Given the description of an element on the screen output the (x, y) to click on. 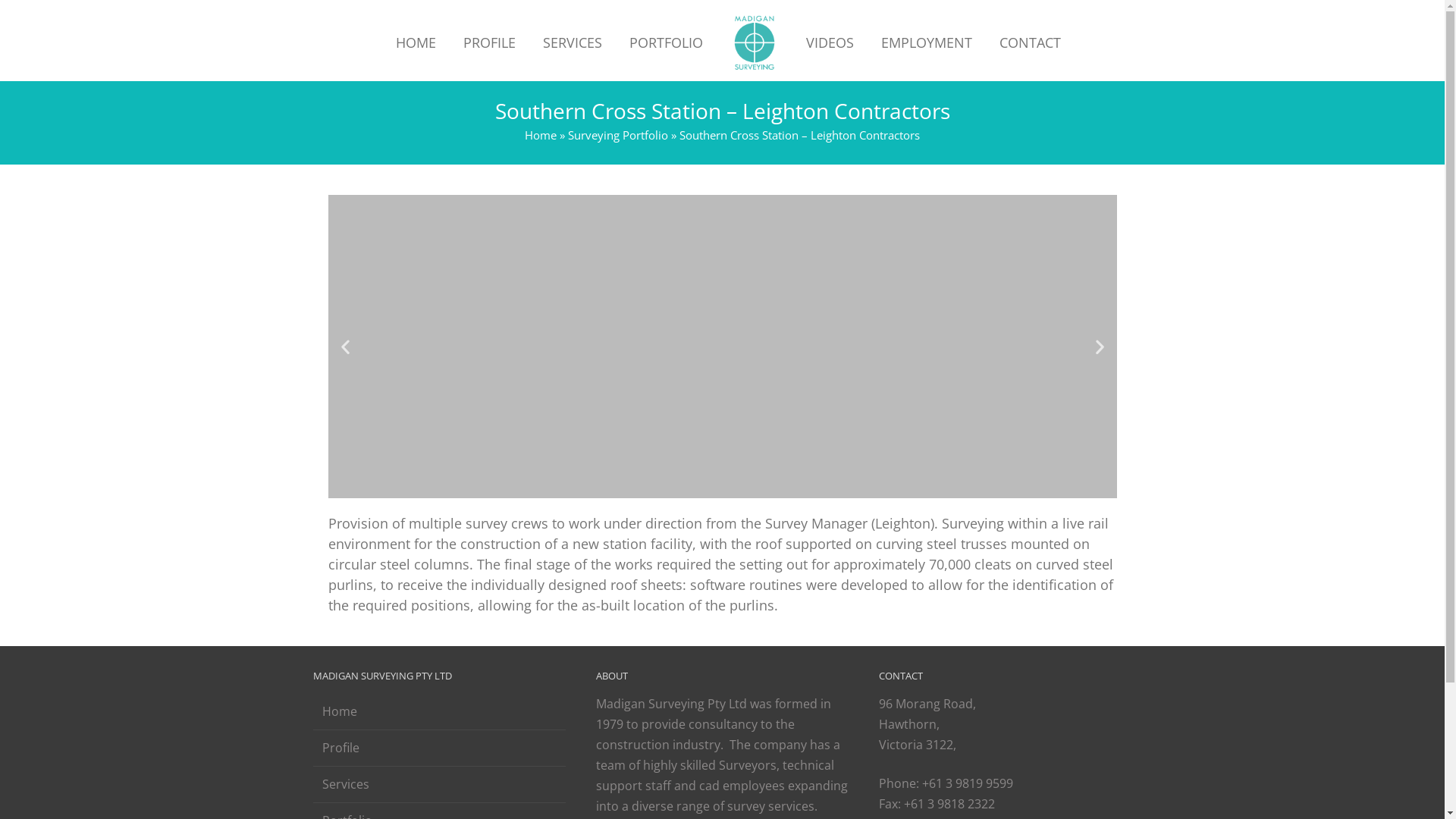
Services Element type: text (438, 783)
PROFILE Element type: text (488, 42)
CONTACT Element type: text (1029, 42)
  Element type: text (753, 42)
EMPLOYMENT Element type: text (926, 42)
HOME Element type: text (415, 42)
Profile Element type: text (438, 747)
PORTFOLIO Element type: text (665, 42)
Home Element type: text (540, 134)
VIDEOS Element type: text (828, 42)
SERVICES Element type: text (572, 42)
Surveying Portfolio Element type: text (617, 134)
Home Element type: text (438, 711)
